Given the description of an element on the screen output the (x, y) to click on. 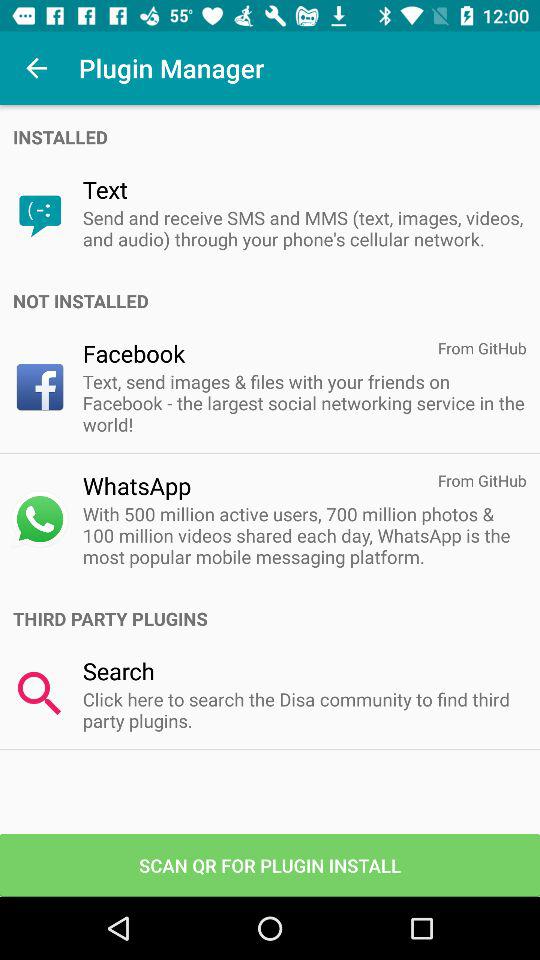
tap the item above installed app (36, 68)
